Given the description of an element on the screen output the (x, y) to click on. 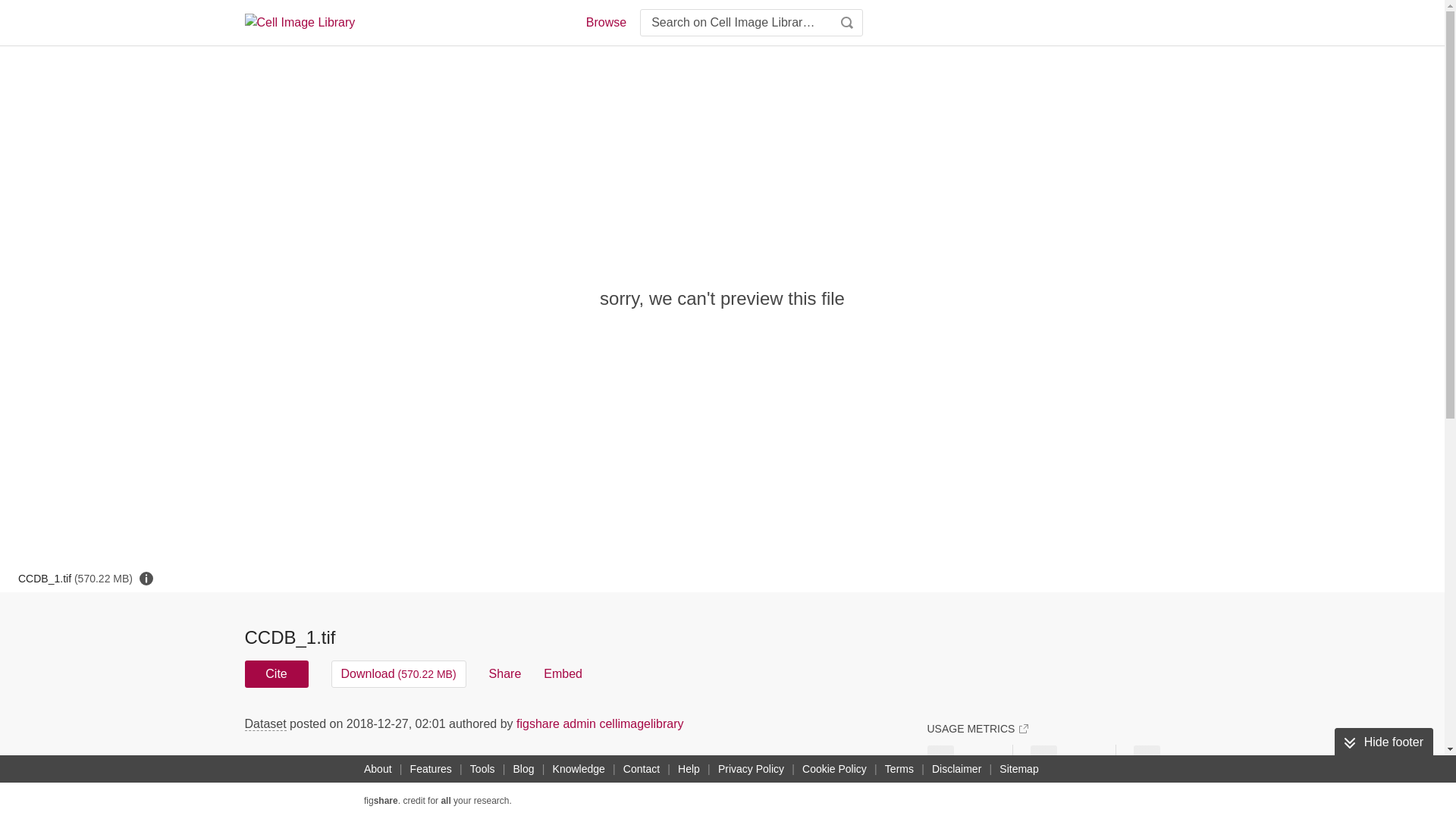
About (377, 769)
Disclaimer (956, 769)
Sitemap (1018, 769)
Terms (899, 769)
USAGE METRICS (976, 728)
Cite (275, 673)
Hide footer (1383, 742)
Features (431, 769)
Contact (640, 769)
Share (505, 673)
Blog (523, 769)
Browse (605, 22)
figshare admin cellimagelibrary (600, 723)
Privacy Policy (751, 769)
Knowledge (579, 769)
